Given the description of an element on the screen output the (x, y) to click on. 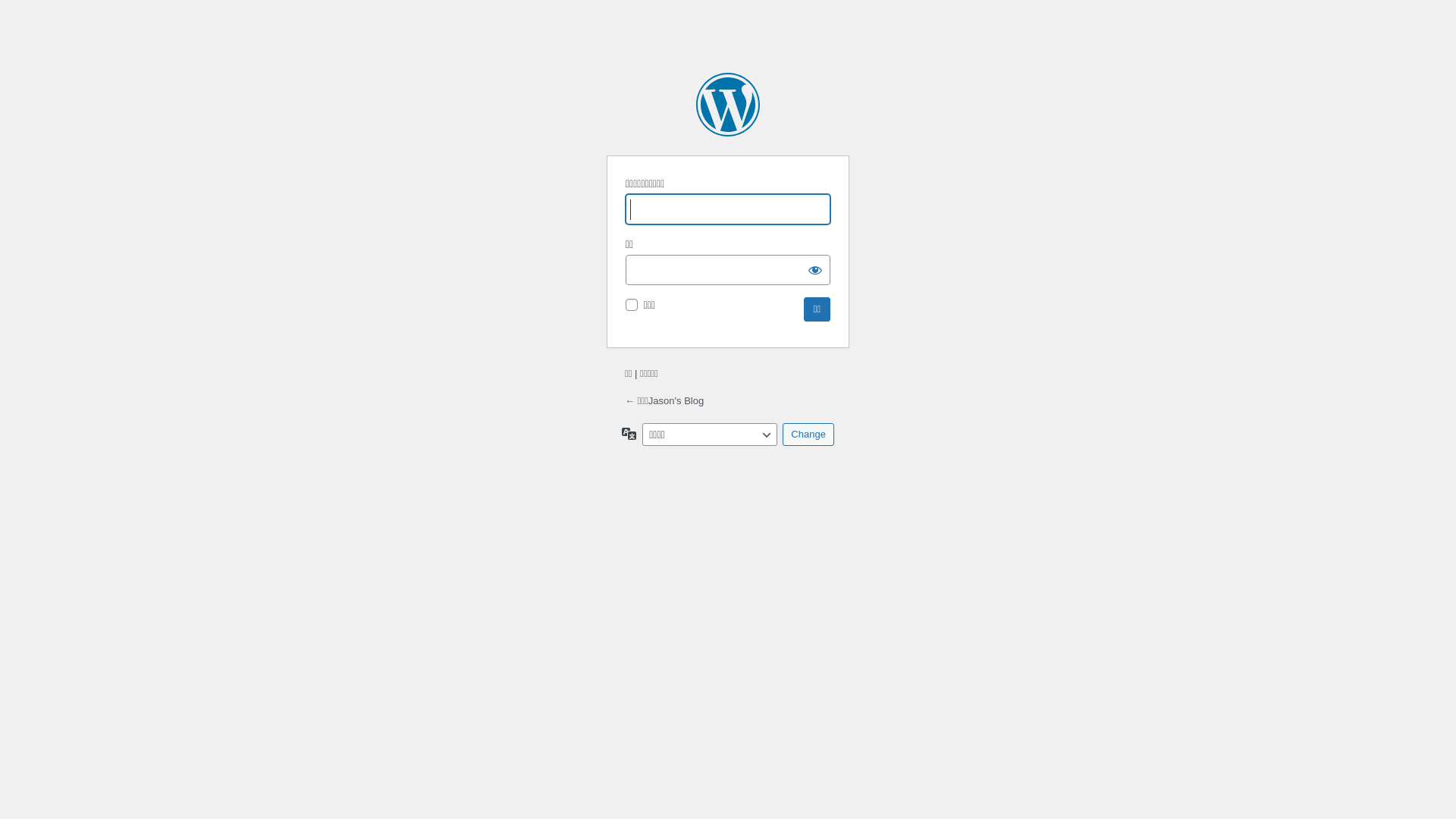
Change Element type: text (808, 434)
